Given the description of an element on the screen output the (x, y) to click on. 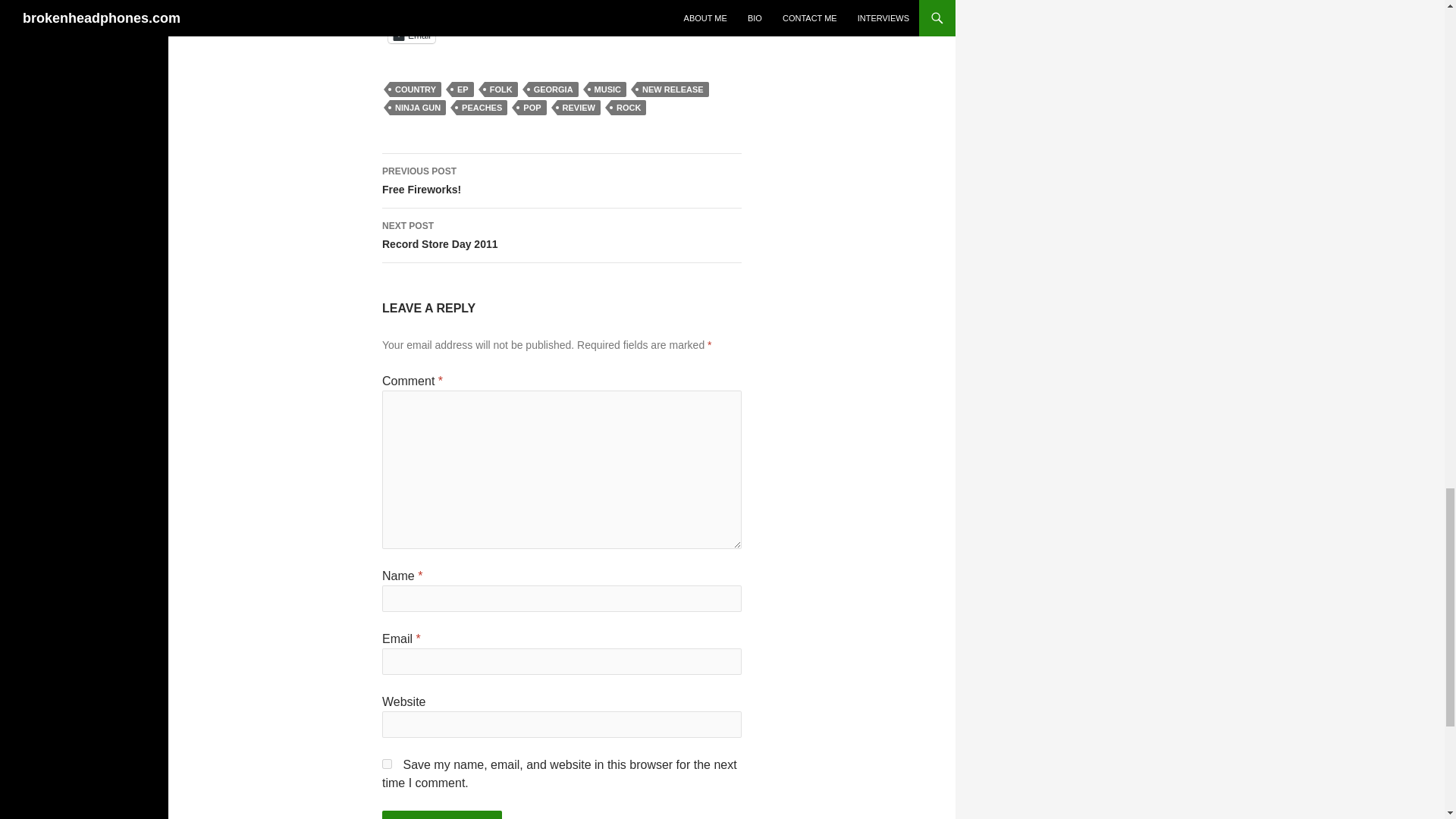
MUSIC (607, 89)
REVIEW (578, 107)
EP (462, 89)
NINJA GUN (417, 107)
POP (532, 107)
Click to email a link to a friend (411, 35)
Post Comment (441, 814)
NEW RELEASE (673, 89)
COUNTRY (415, 89)
Email (411, 35)
